Given the description of an element on the screen output the (x, y) to click on. 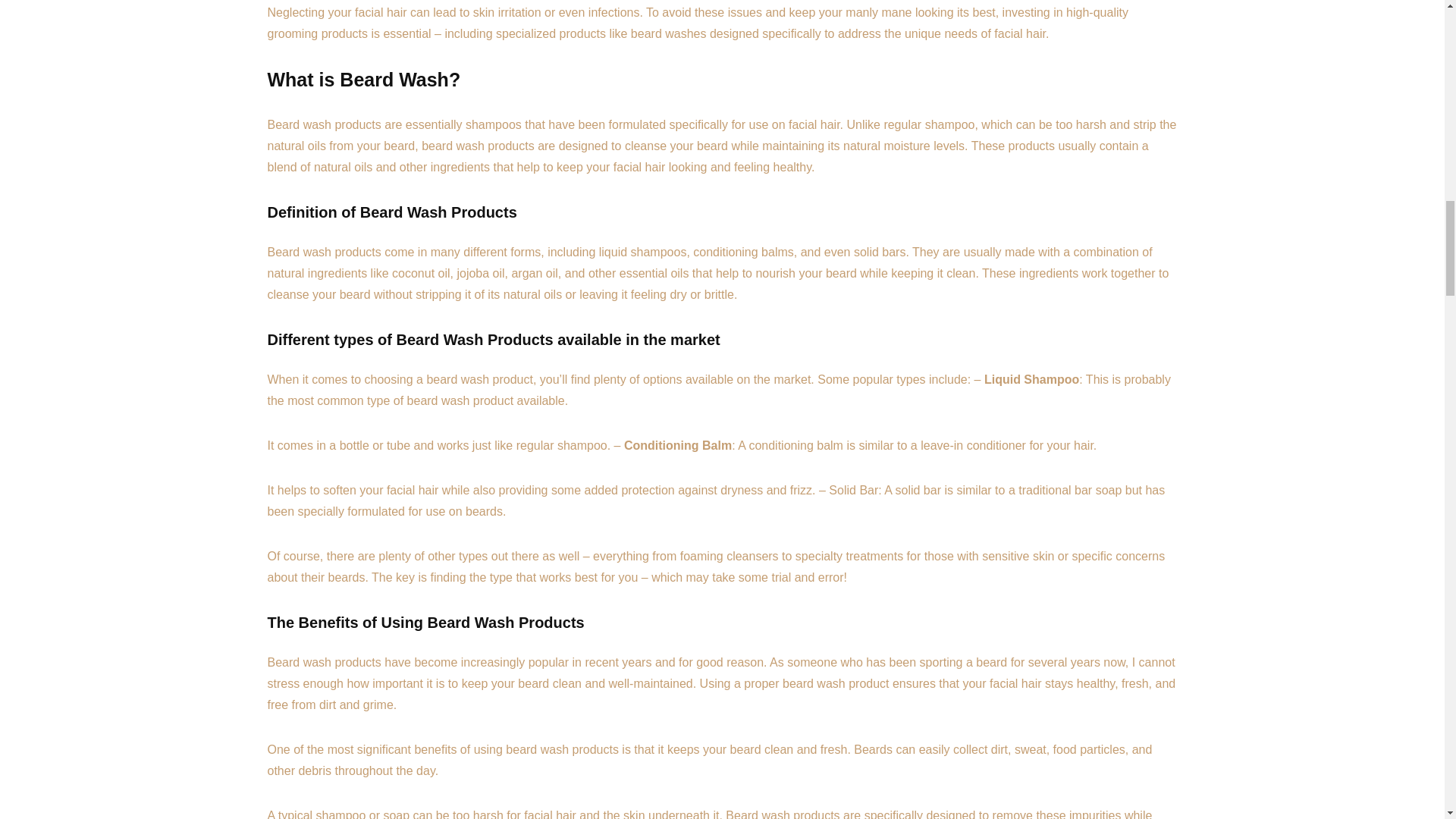
The Benefits of Using Beard Wash Products (424, 622)
Definition of Beard Wash Products (391, 211)
What is Beard Wash? (363, 79)
